Given the description of an element on the screen output the (x, y) to click on. 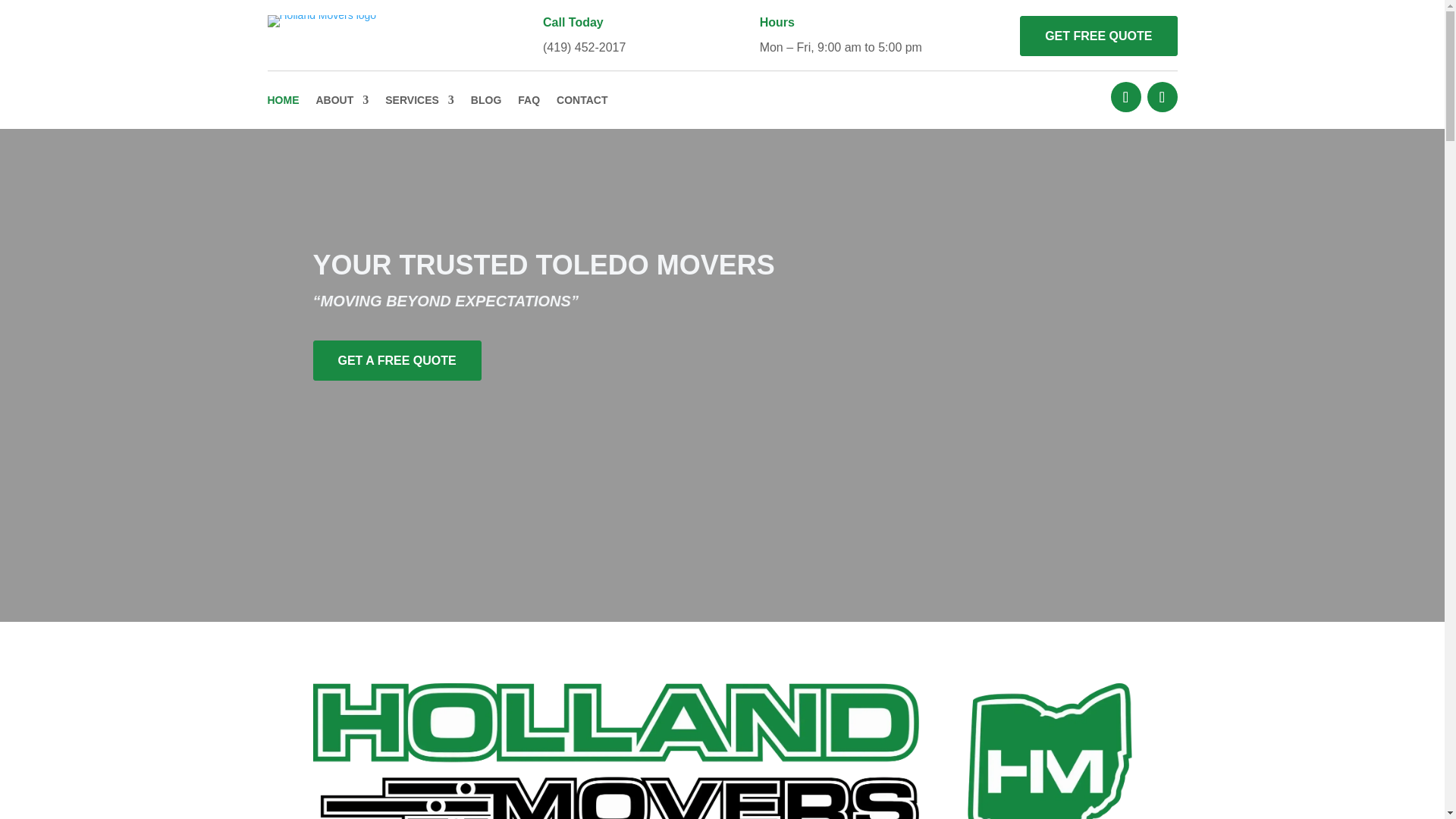
Follow on Facebook (1124, 96)
GET A FREE QUOTE (396, 360)
ABOUT (341, 99)
holland-movers-logo (320, 21)
SERVICES (419, 99)
GET FREE QUOTE (1098, 35)
Follow on Instagram (1161, 96)
